Given the description of an element on the screen output the (x, y) to click on. 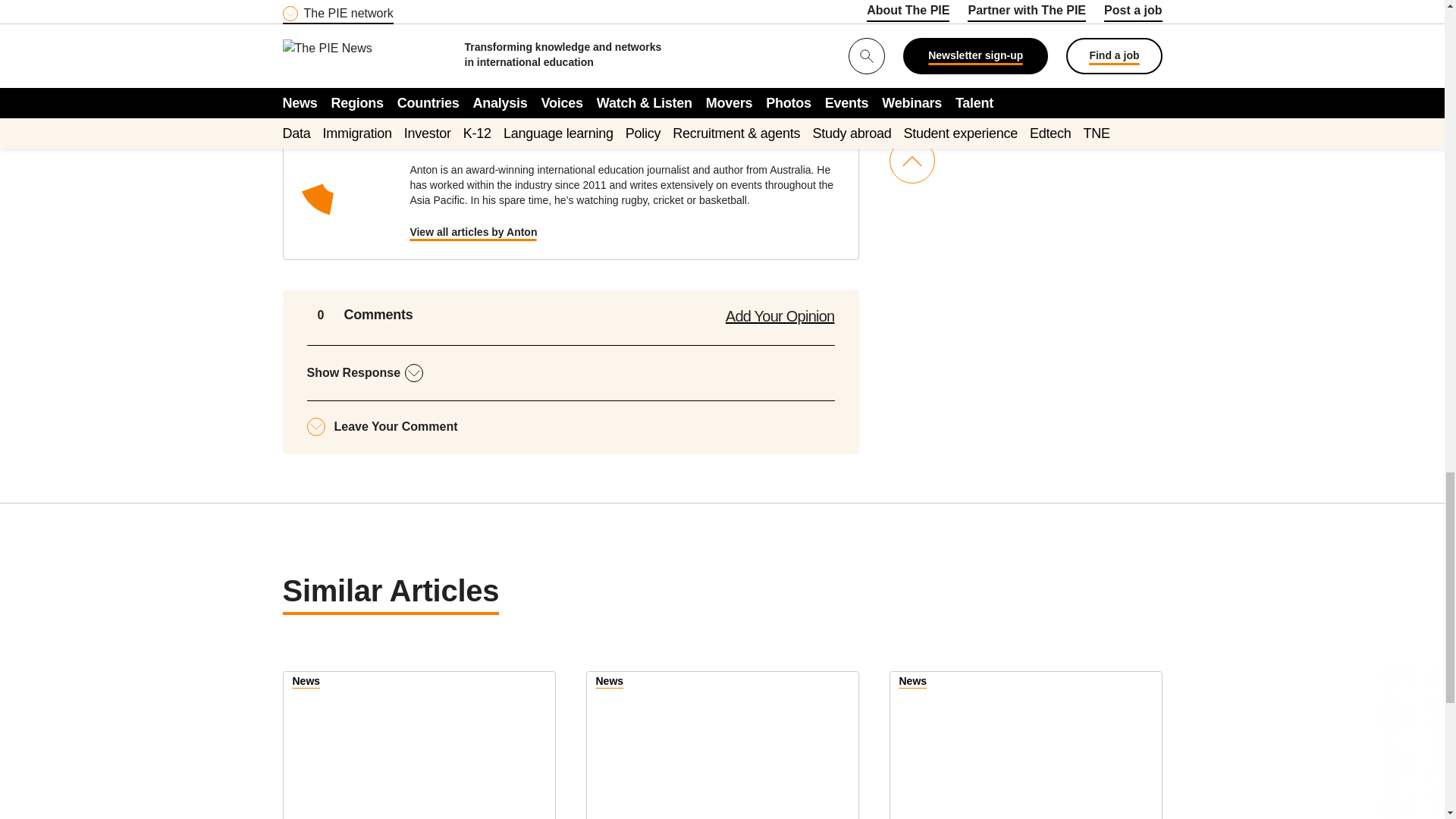
View all News articles (912, 682)
View all News articles (609, 682)
View all News articles (306, 682)
